Given the description of an element on the screen output the (x, y) to click on. 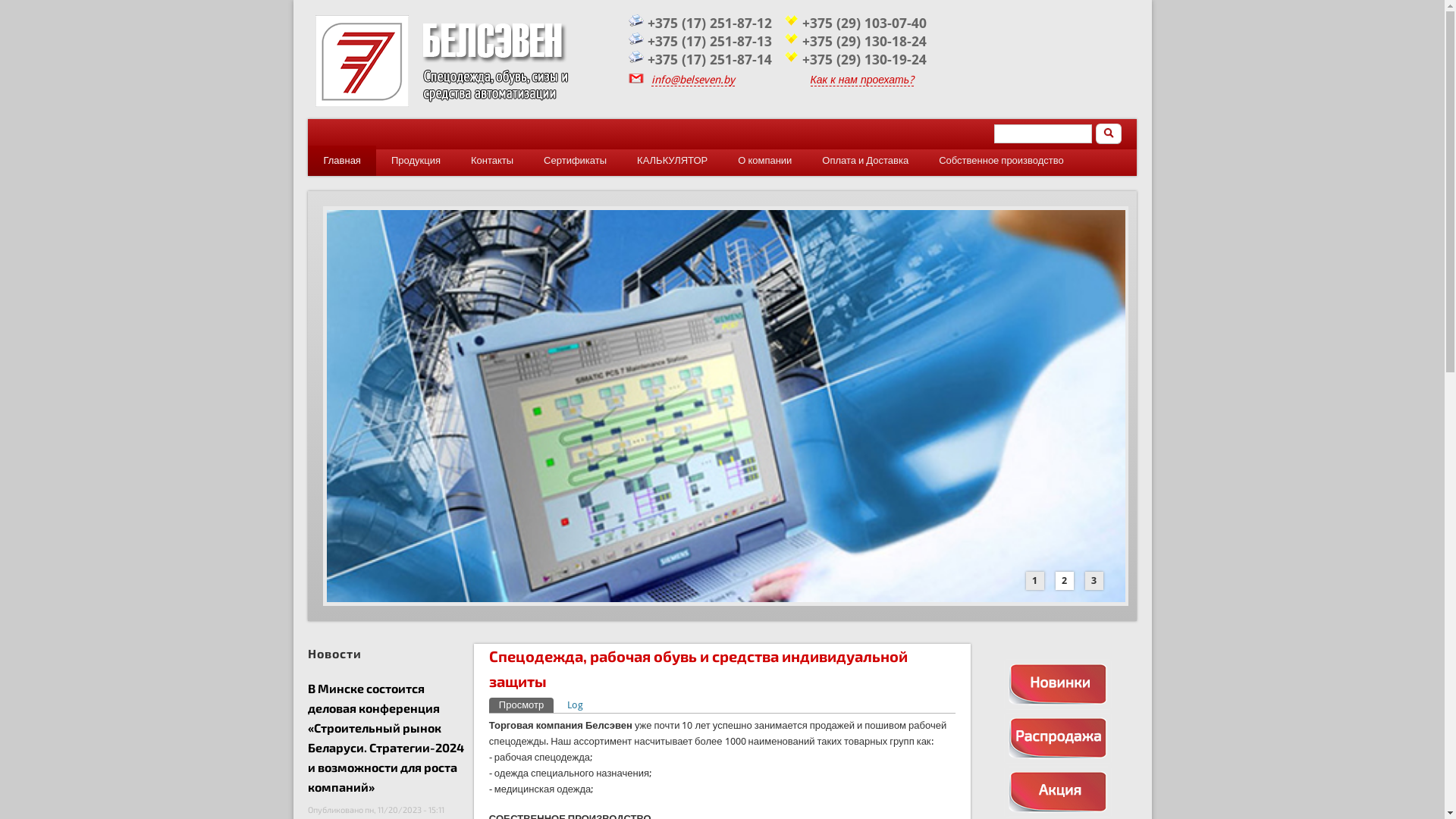
1 Element type: text (1035, 580)
info@belseven.by Element type: text (692, 79)
3 Element type: text (1094, 580)
Log Element type: text (575, 704)
2 Element type: text (1064, 580)
